Given the description of an element on the screen output the (x, y) to click on. 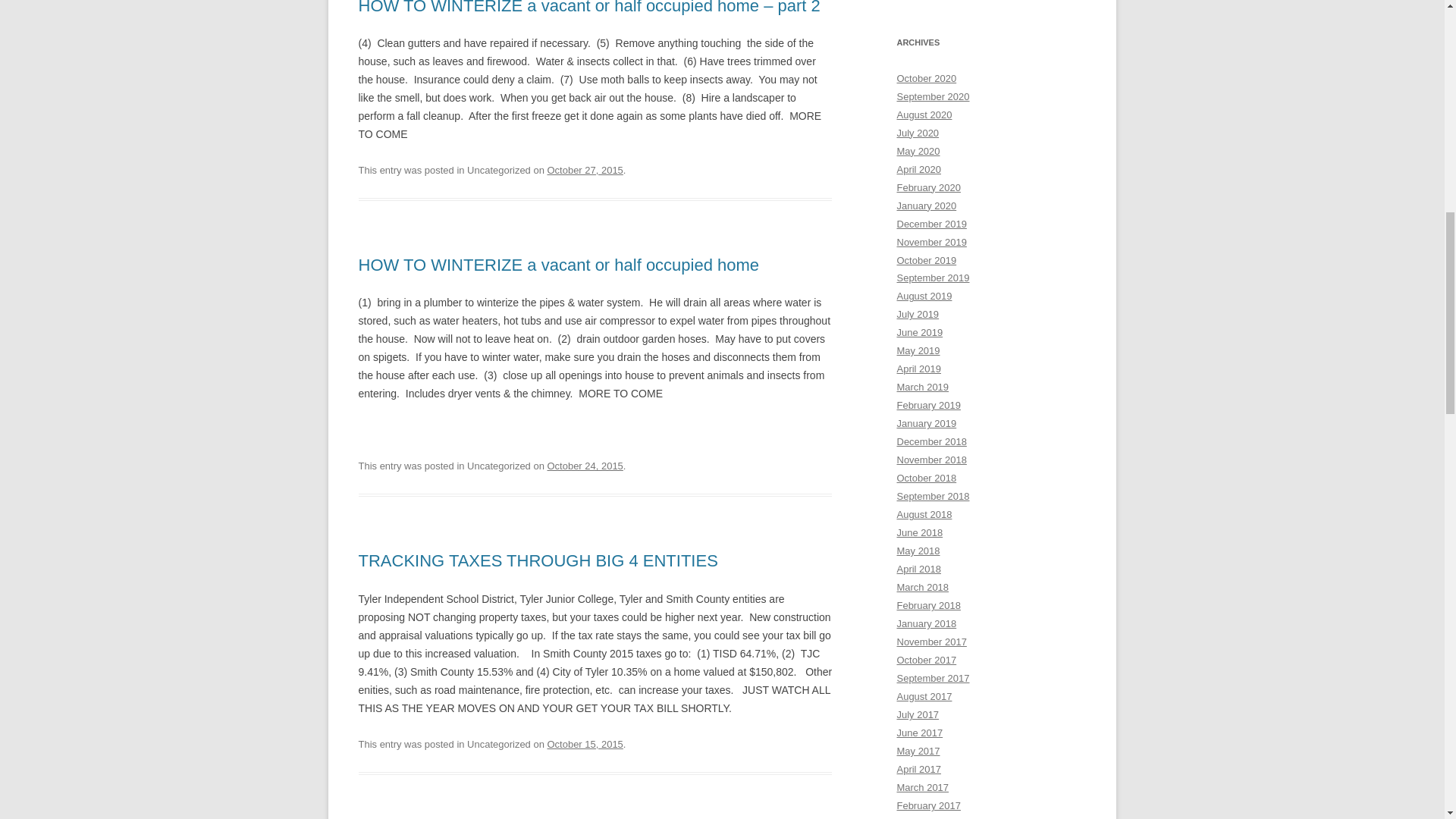
August 2020 (924, 114)
TRACKING TAXES THROUGH BIG 4 ENTITIES (537, 560)
April 2020 (918, 169)
May 2020 (917, 151)
October 27, 2015 (585, 170)
12:11 am (585, 465)
January 2020 (926, 205)
9:36 pm (585, 744)
HOW TO WINTERIZE a vacant or half occupied home (558, 264)
November 2019 (931, 242)
